Given the description of an element on the screen output the (x, y) to click on. 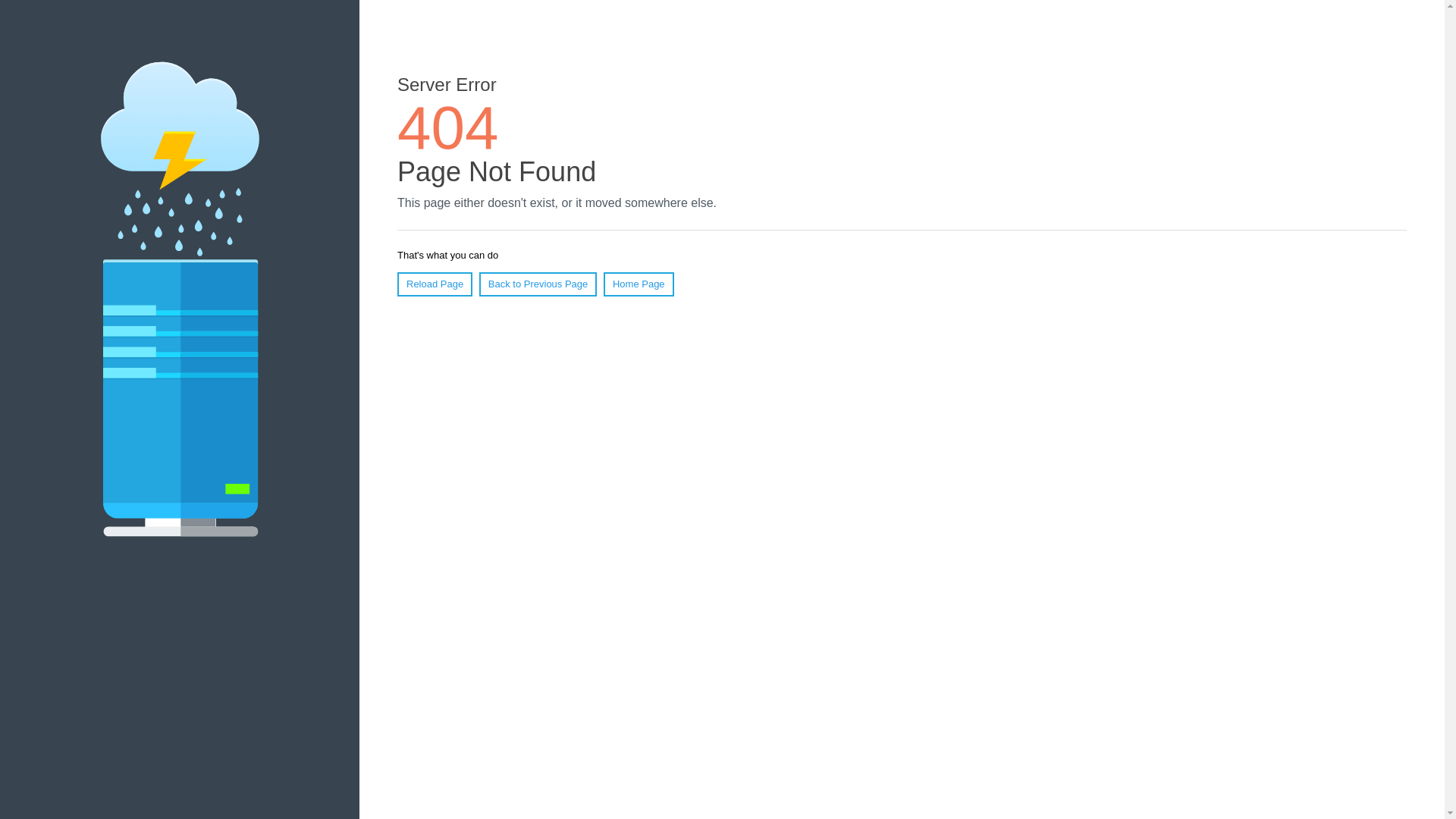
Reload Page Element type: text (434, 284)
Home Page Element type: text (638, 284)
Back to Previous Page Element type: text (538, 284)
